Given the description of an element on the screen output the (x, y) to click on. 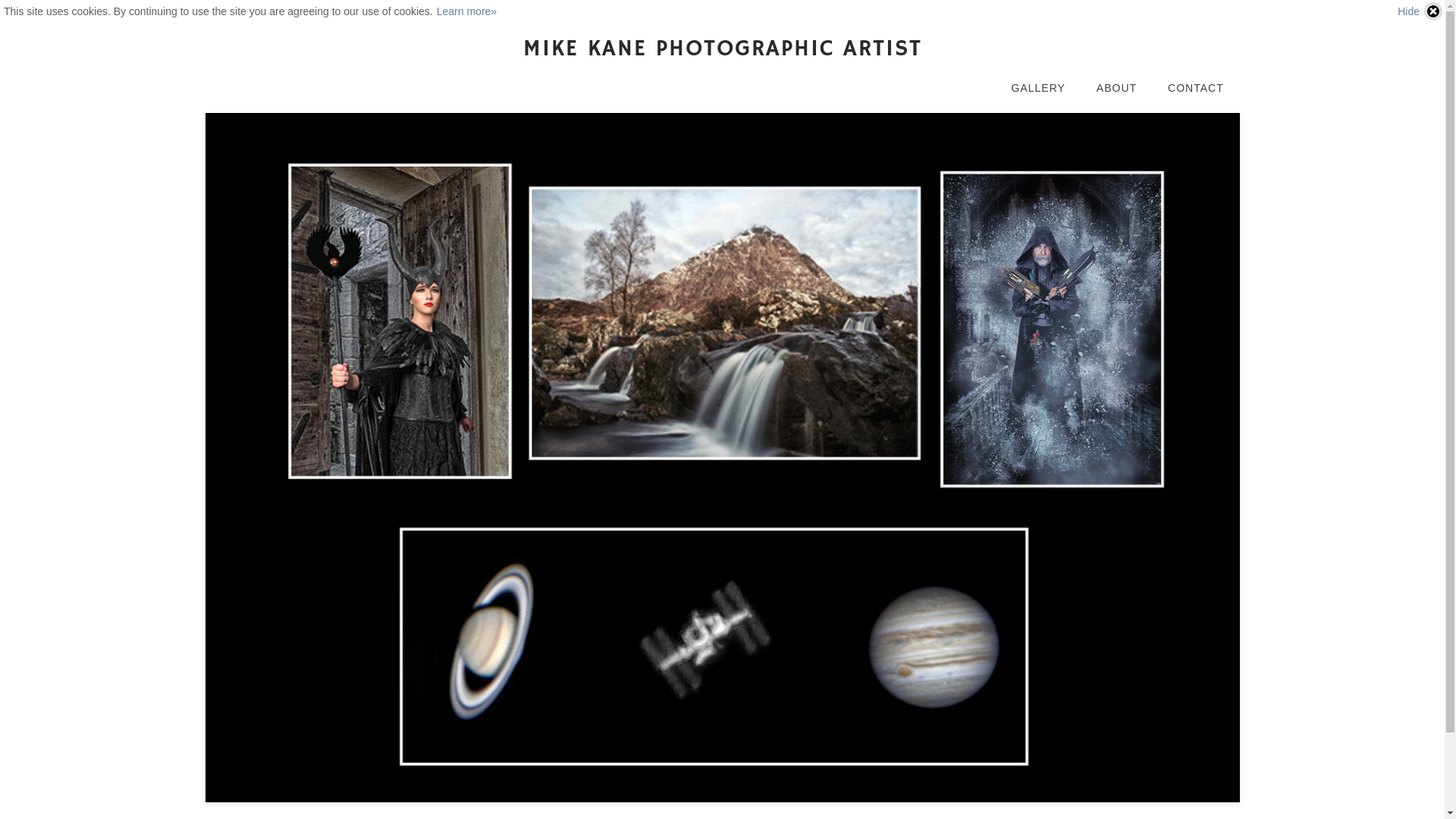
GALLERY Element type: text (1037, 87)
ABOUT Element type: text (1116, 87)
CONTACT Element type: text (1195, 87)
Hide Element type: text (1419, 11)
